Given the description of an element on the screen output the (x, y) to click on. 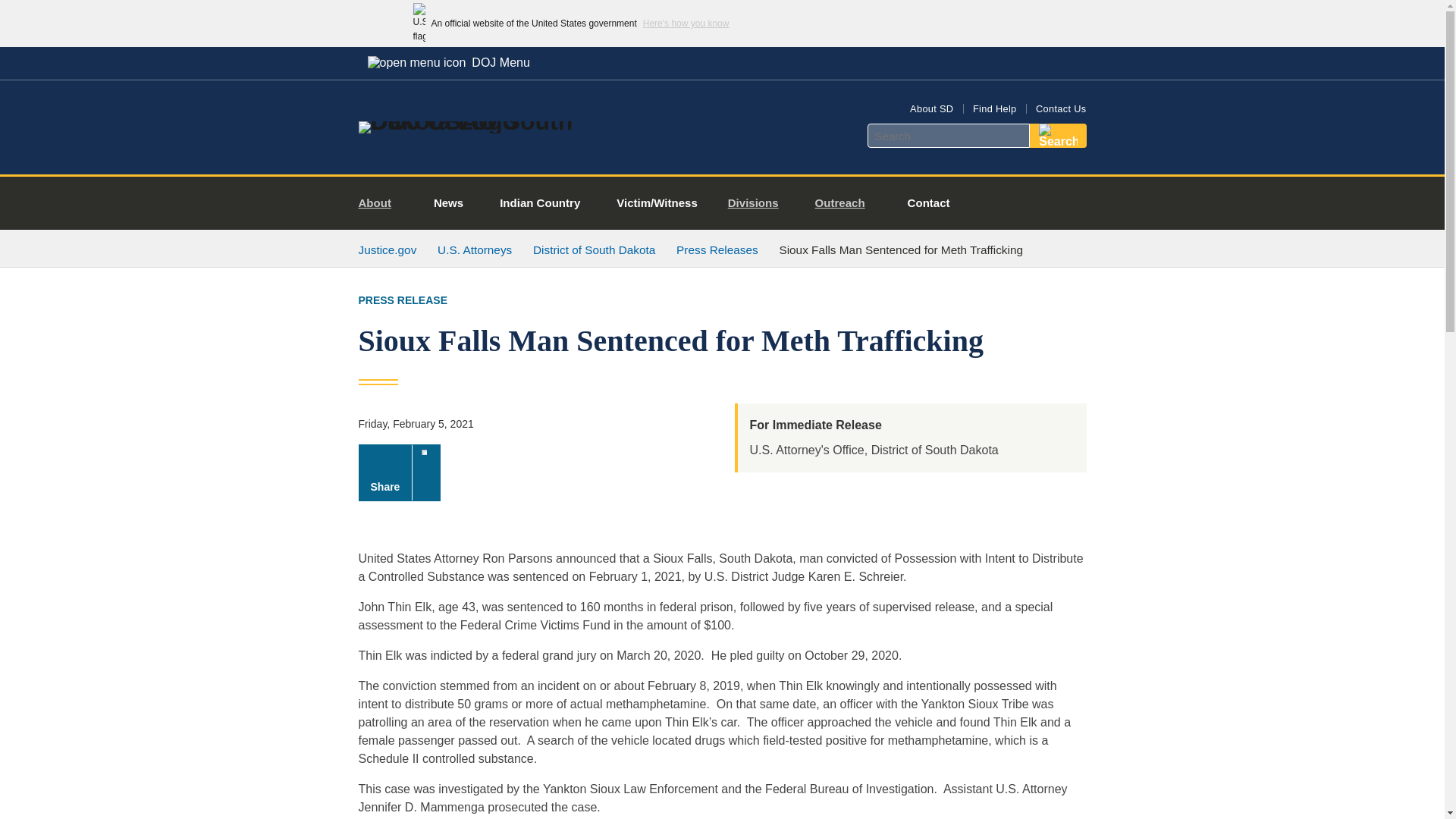
Home (481, 121)
Contact Us (1060, 108)
Justice.gov (387, 249)
Divisions (759, 203)
Find Help (994, 108)
Share (398, 472)
About SD (931, 108)
Outreach (846, 203)
District of South Dakota (593, 249)
U.S. Attorneys (475, 249)
Contact (928, 203)
Here's how you know (686, 23)
Press Releases (717, 249)
About (380, 203)
DOJ Menu (448, 62)
